Given the description of an element on the screen output the (x, y) to click on. 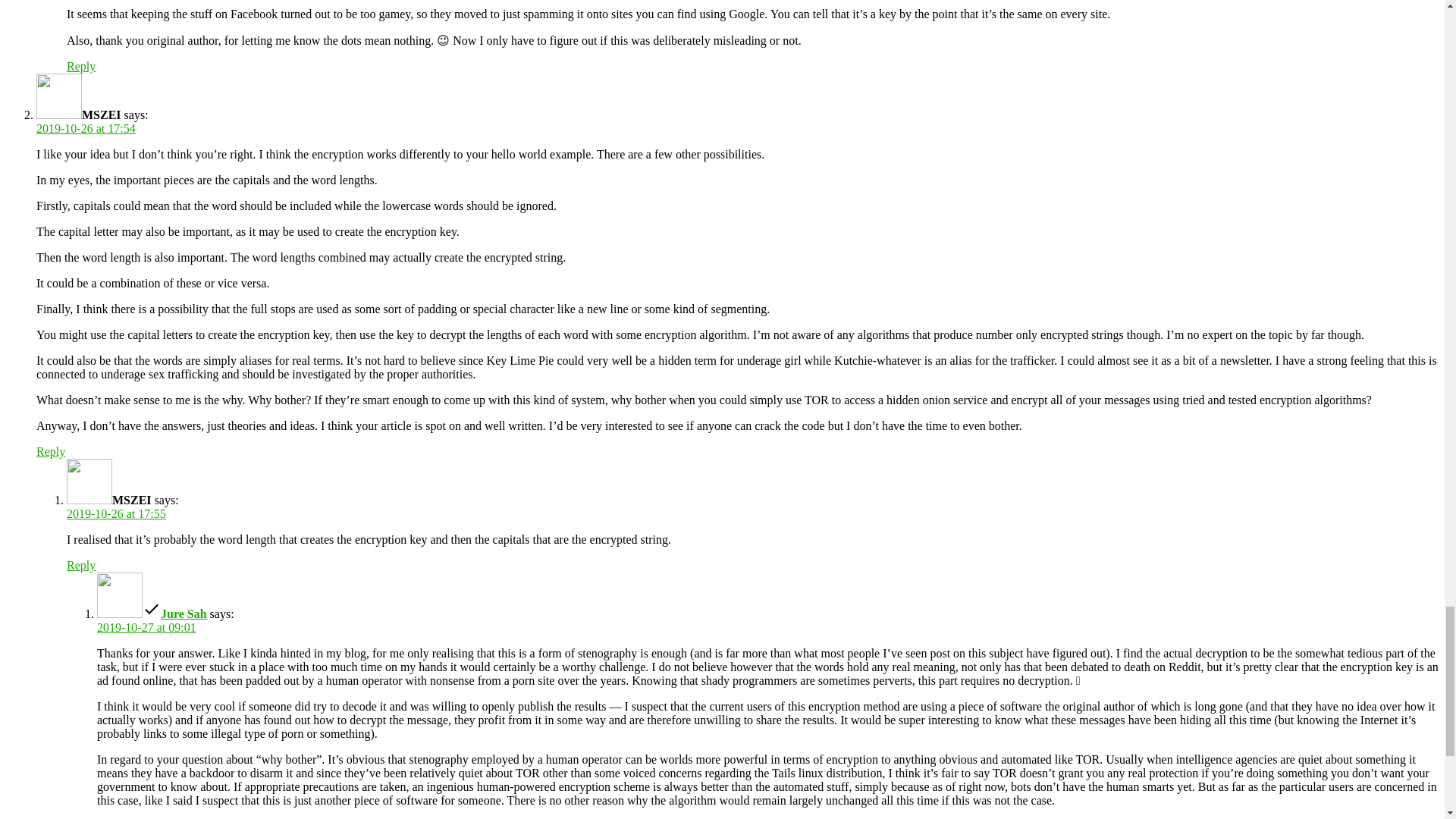
Reply (50, 451)
Reply (81, 65)
2019-10-26 at 17:55 (115, 513)
2019-10-27 at 09:01 (146, 626)
Reply (81, 564)
2019-10-27 at 09:01 (146, 626)
2019-10-26 at 17:54 (85, 128)
2019-10-26 at 17:55 (115, 513)
Jure Sah (183, 613)
2019-10-26 at 17:54 (85, 128)
